Given the description of an element on the screen output the (x, y) to click on. 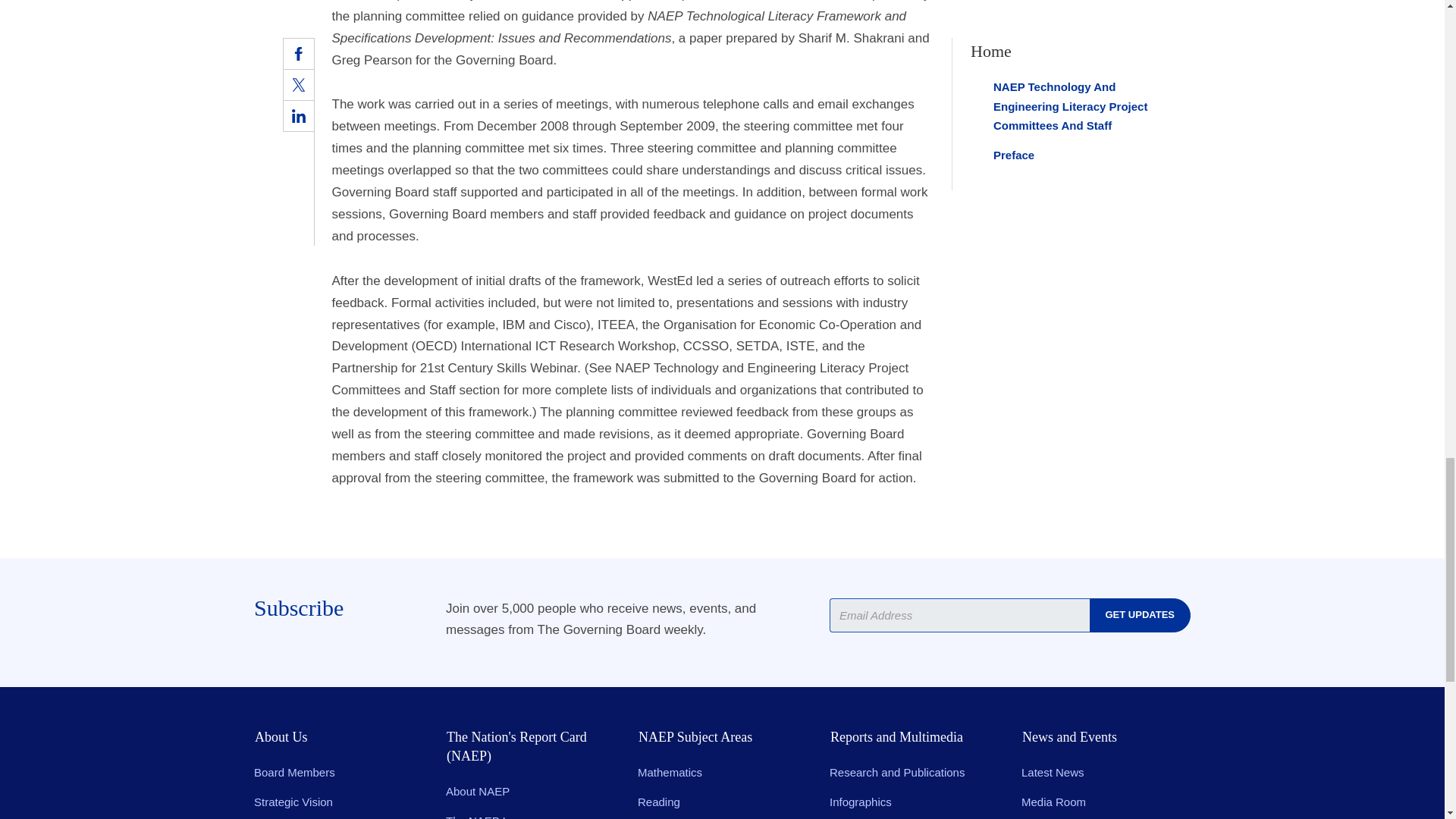
Get Updates (1140, 615)
